Given the description of an element on the screen output the (x, y) to click on. 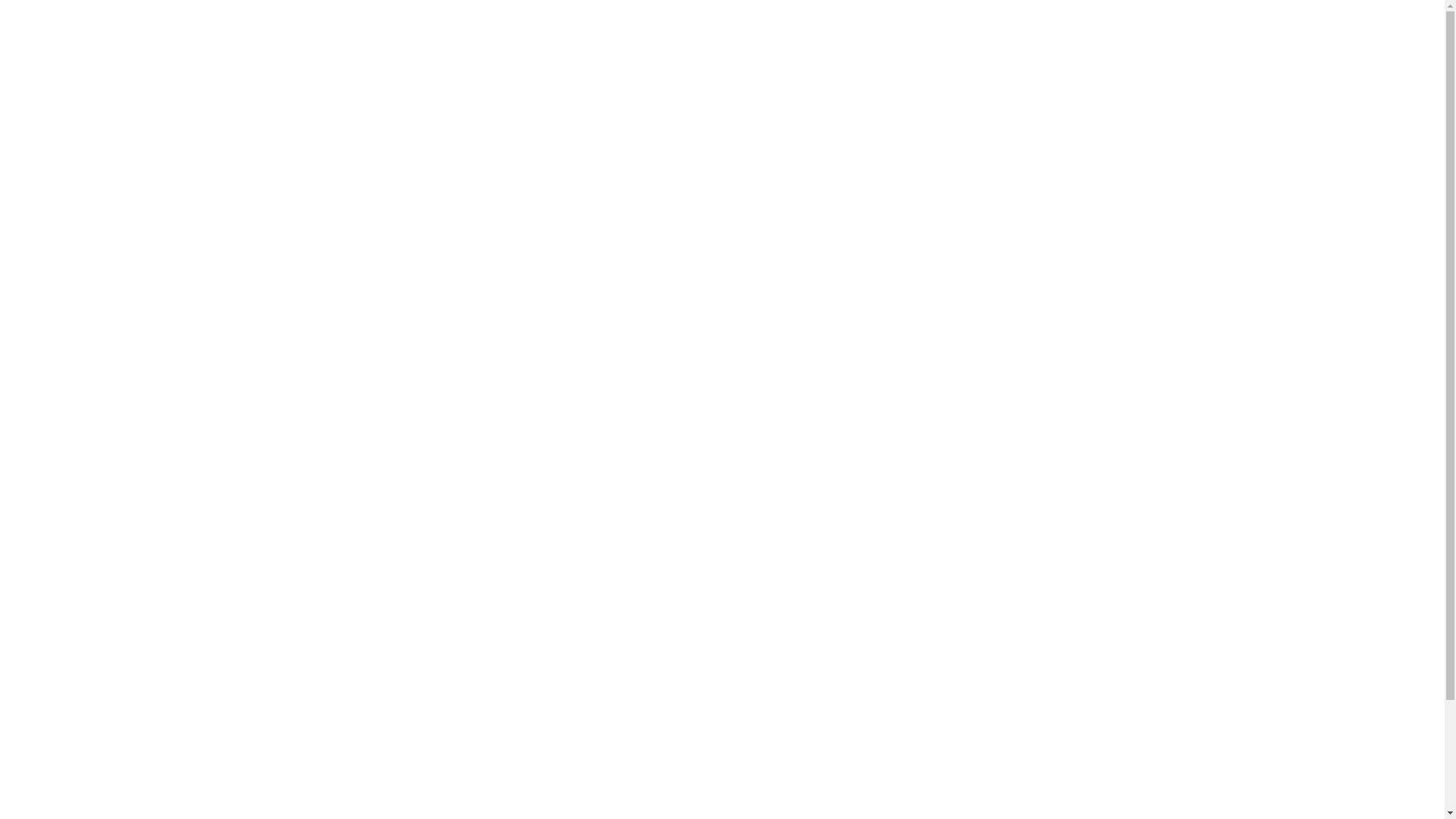
velichkoss@gmail.com Element type: text (692, 51)
+375 29 627-98-99 Element type: text (410, 745)
+375 29 627-98-99 Element type: text (375, 42)
+375 29 530-45-27 Element type: text (410, 769)
